Given the description of an element on the screen output the (x, y) to click on. 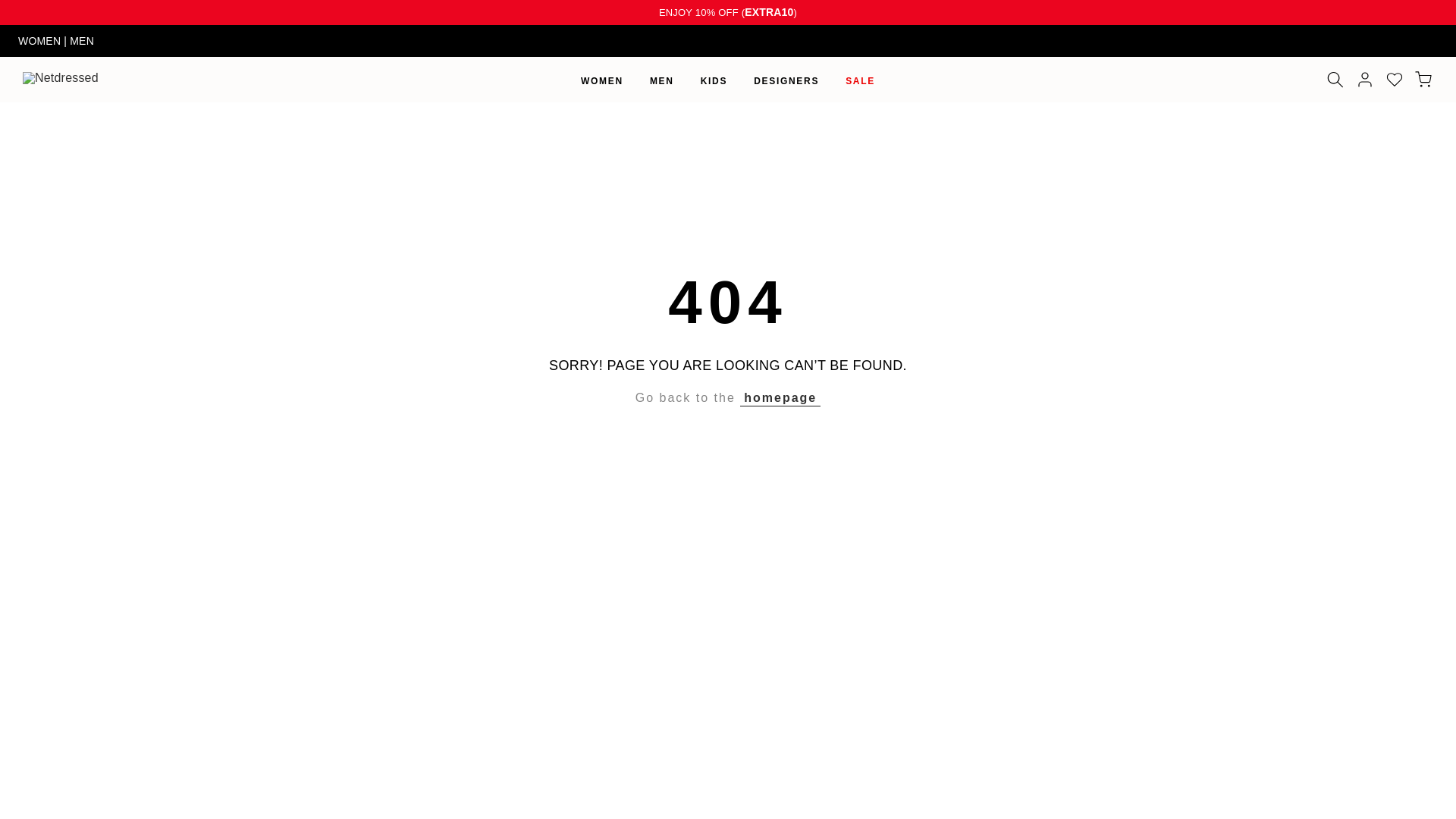
Skip to content (10, 7)
KIDS (713, 80)
MEN (81, 40)
SALE (860, 80)
WOMEN (602, 80)
DESIGNERS (786, 80)
homepage (780, 397)
MEN (661, 80)
WOMEN (40, 40)
